Given the description of an element on the screen output the (x, y) to click on. 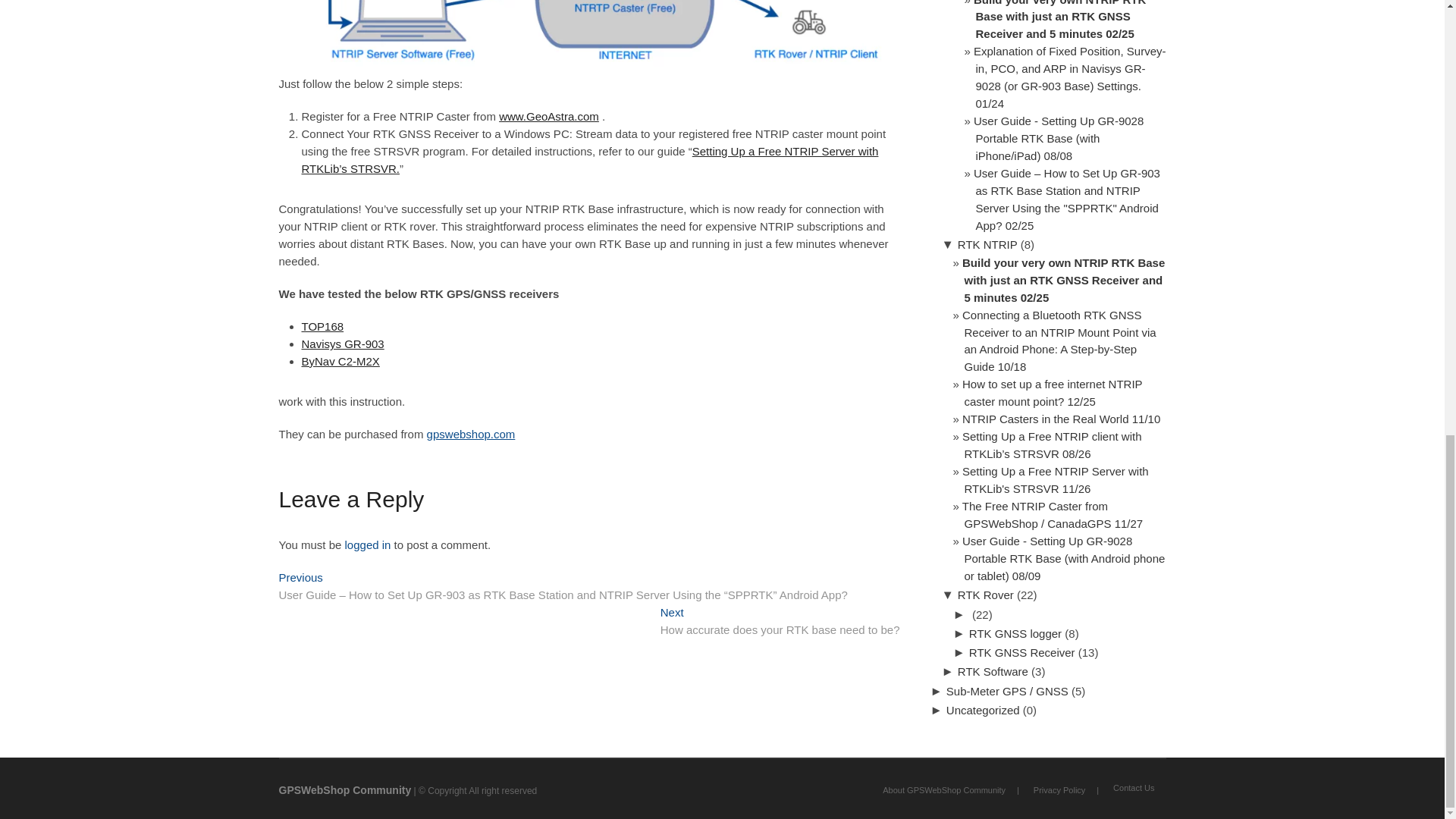
Navisys GR-903 (342, 343)
logged in (368, 544)
TOP168 (322, 326)
gpswebshop.com (470, 433)
ByNav C2-M2X (780, 622)
www.GeoAstra.com (340, 360)
